Given the description of an element on the screen output the (x, y) to click on. 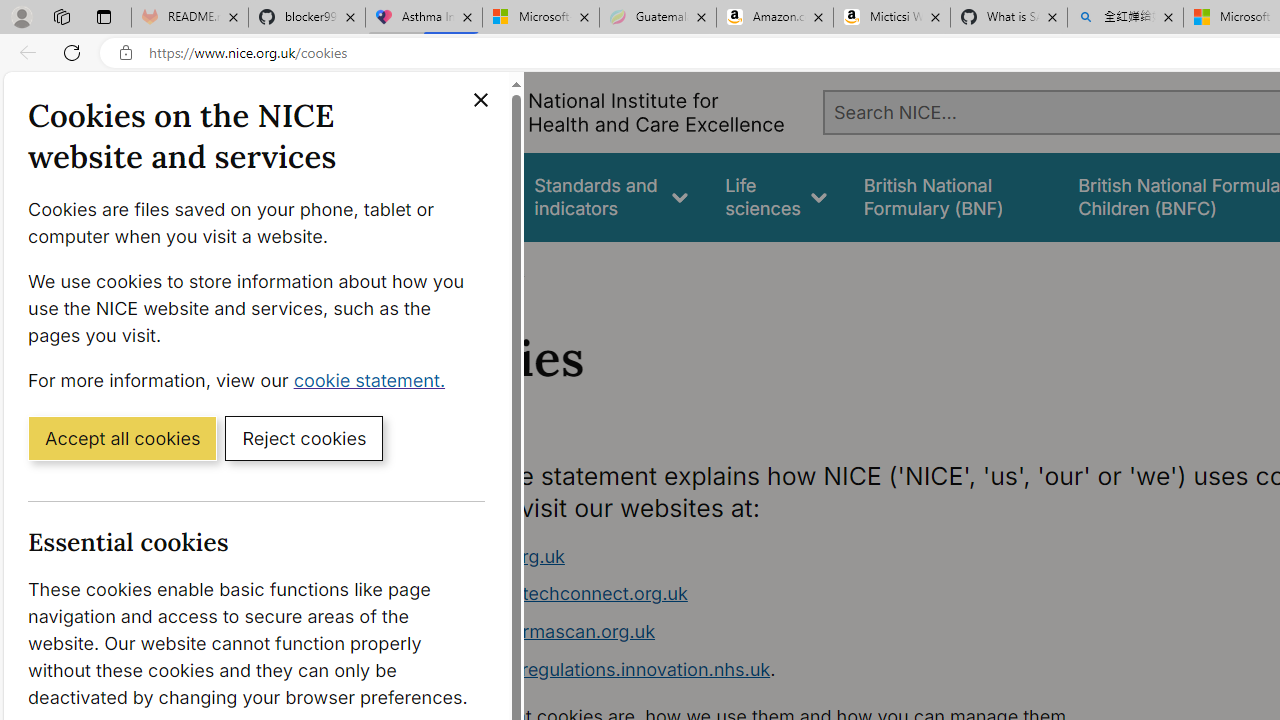
Guidance (458, 196)
www.ukpharmascan.org.uk (538, 631)
Life sciences (776, 196)
www.ukpharmascan.org.uk (796, 632)
Life sciences (776, 196)
Guidance (458, 196)
www.nice.org.uk (796, 556)
Asthma Inhalers: Names and Types (424, 17)
